Given the description of an element on the screen output the (x, y) to click on. 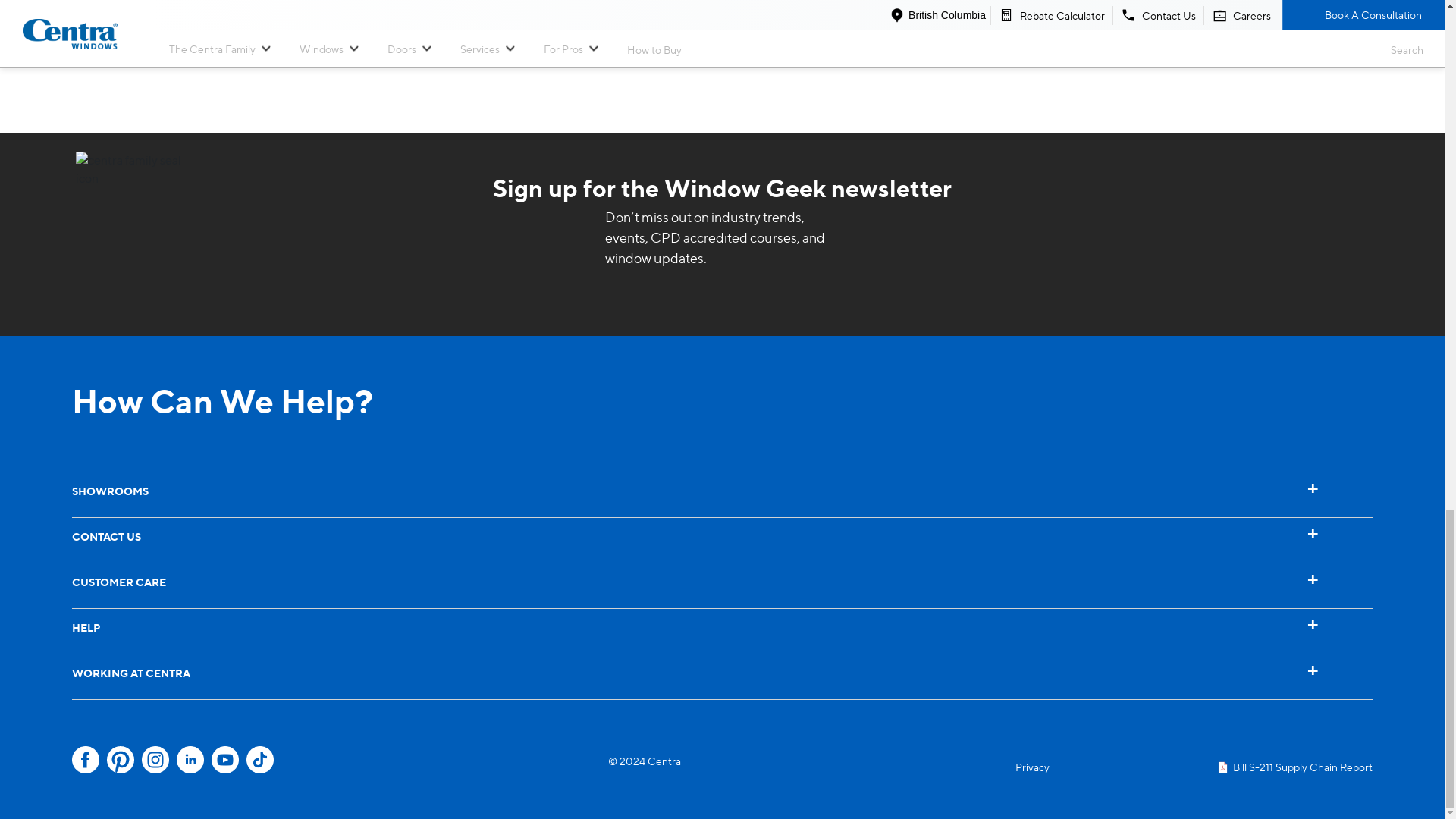
Instagram (154, 759)
Facebook (85, 759)
Pinterest (119, 759)
YouTube (224, 759)
TikTok (259, 759)
LinkedIn (189, 759)
